Given the description of an element on the screen output the (x, y) to click on. 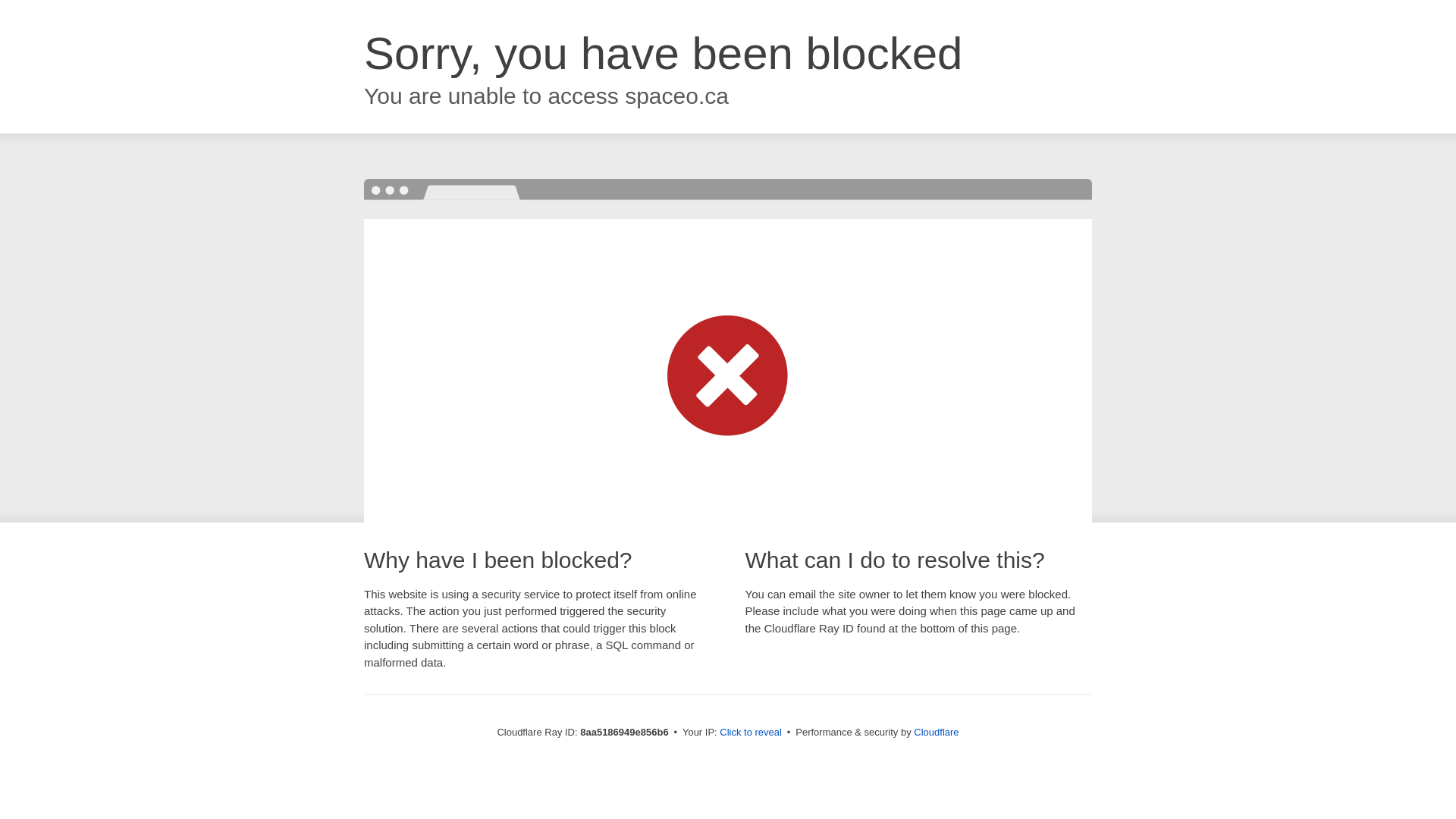
Click to reveal (750, 732)
Cloudflare (936, 731)
